Given the description of an element on the screen output the (x, y) to click on. 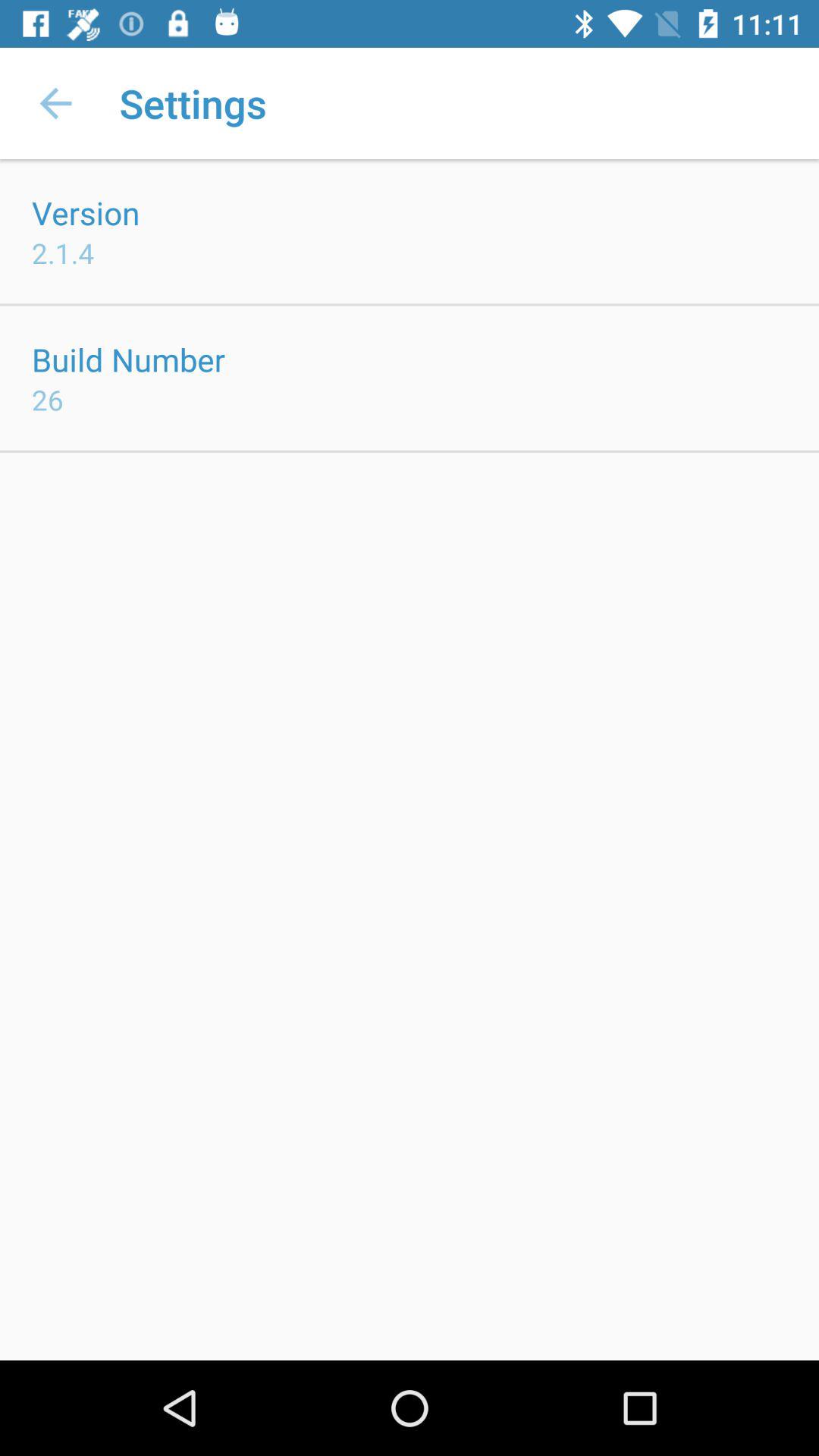
choose icon above 2.1.4 (85, 212)
